Given the description of an element on the screen output the (x, y) to click on. 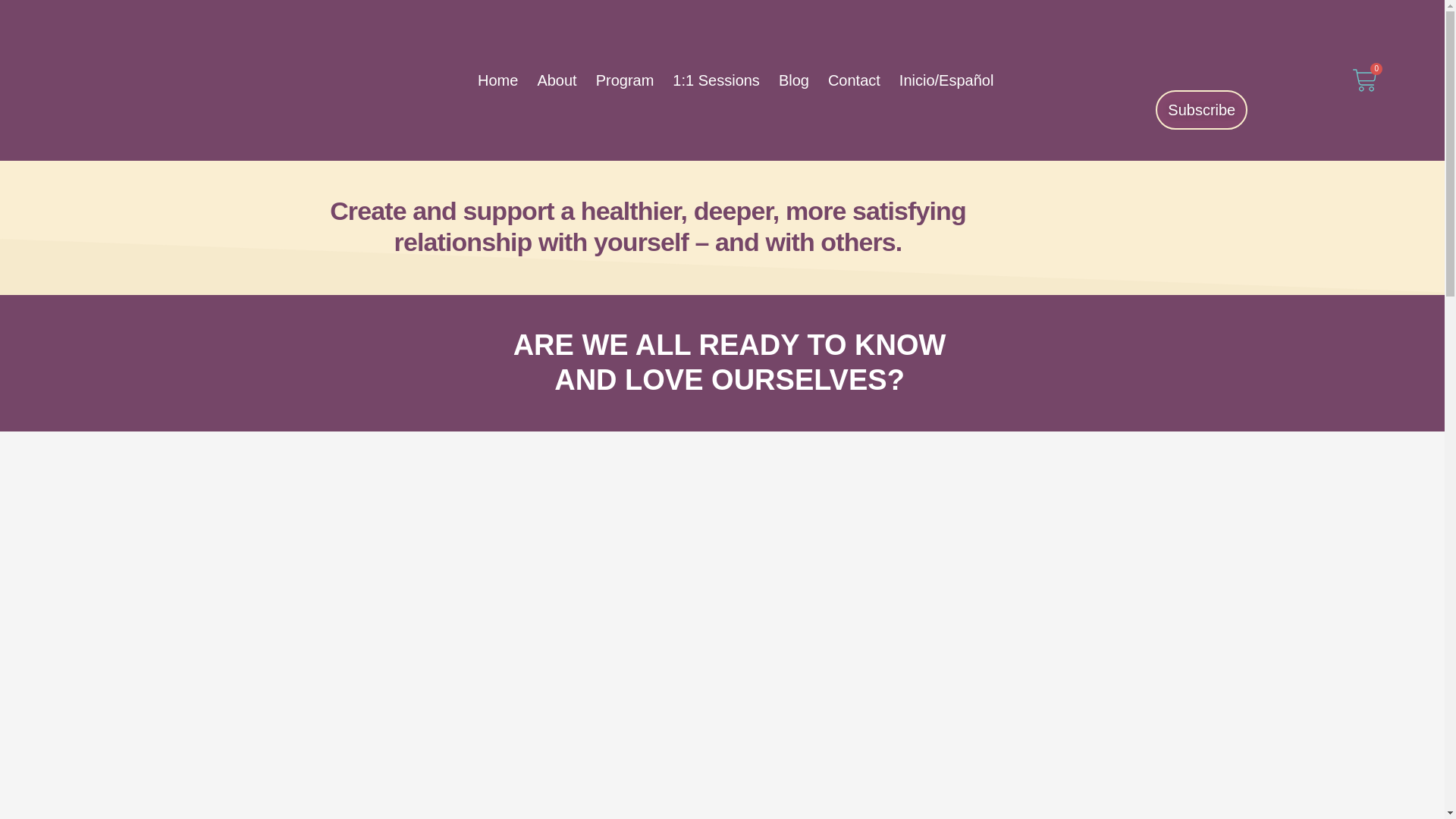
Program (1364, 79)
1:1 Sessions (625, 80)
Subscribe (715, 80)
